Given the description of an element on the screen output the (x, y) to click on. 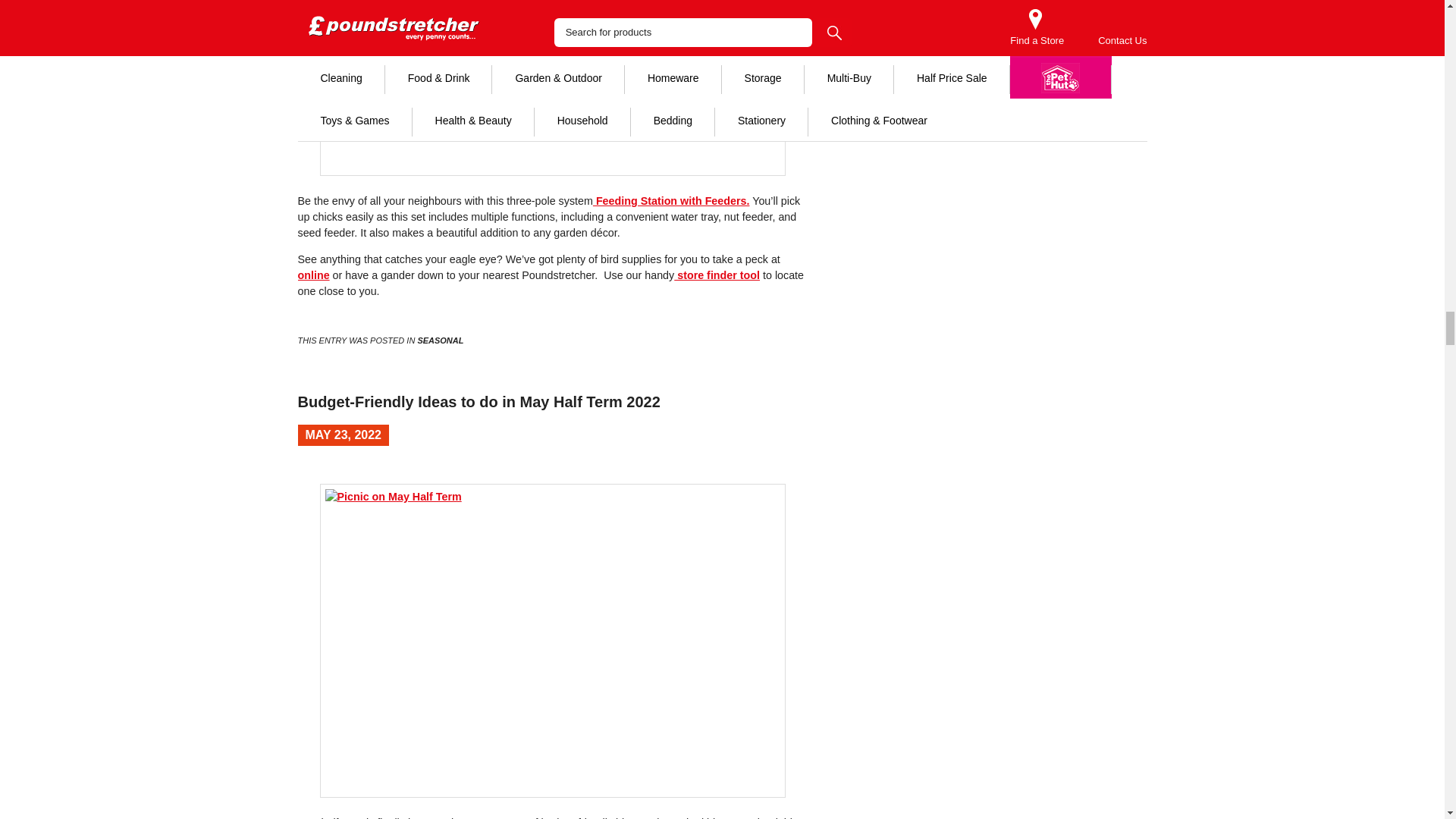
Budget-Friendly Ideas to do in May Half Term 2022 (478, 401)
